Given the description of an element on the screen output the (x, y) to click on. 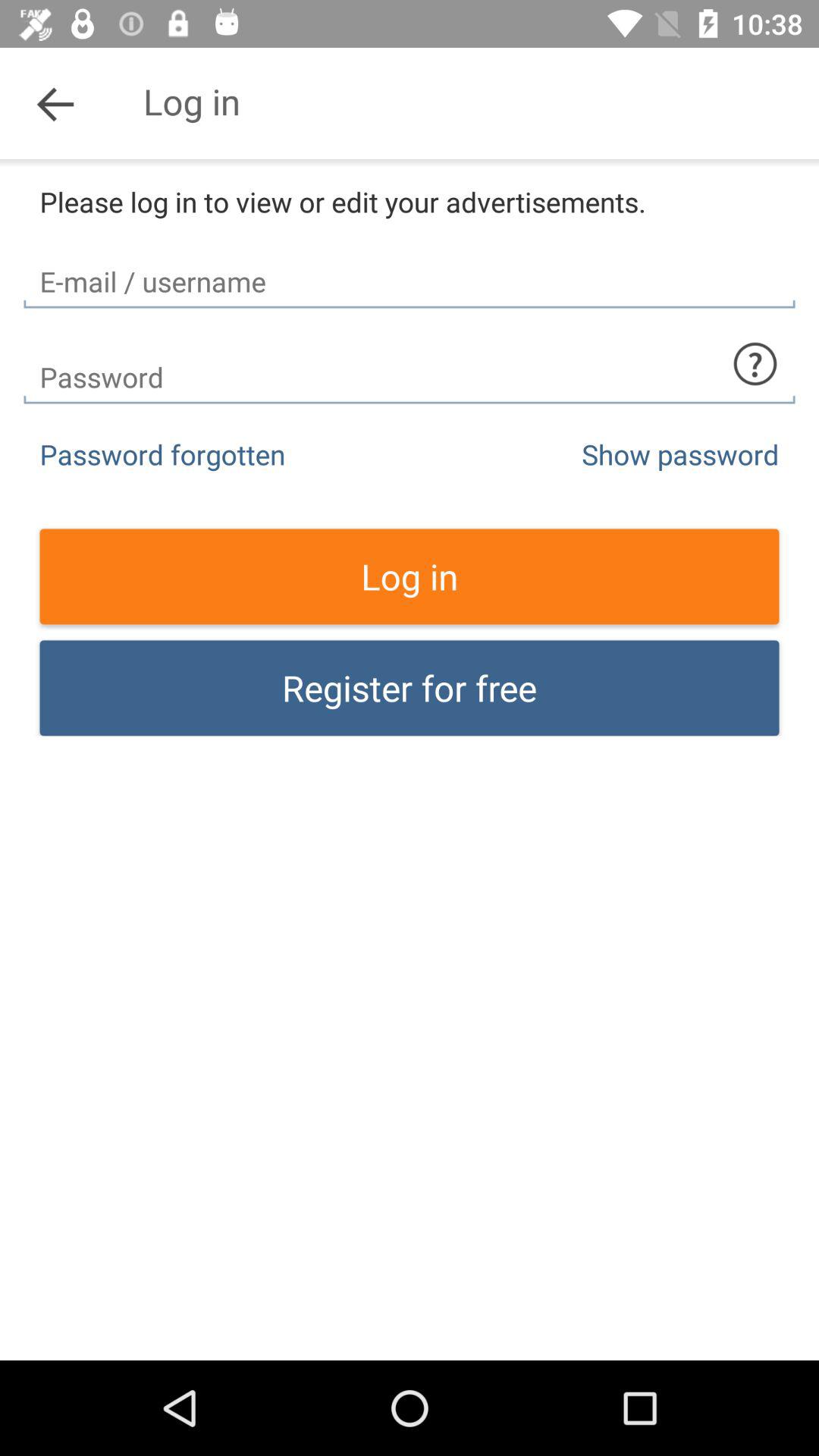
select password field (409, 363)
